Given the description of an element on the screen output the (x, y) to click on. 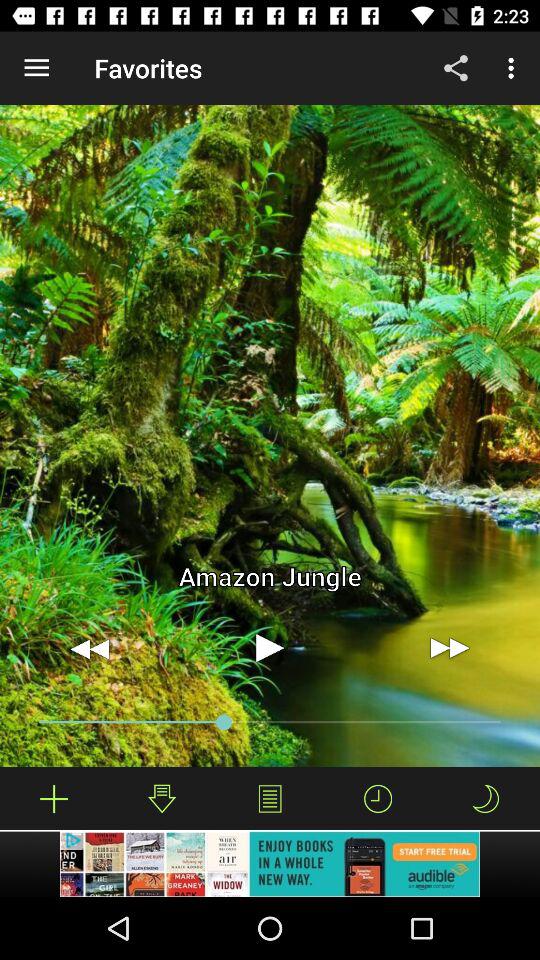
click to forward symbol (450, 648)
